Given the description of an element on the screen output the (x, y) to click on. 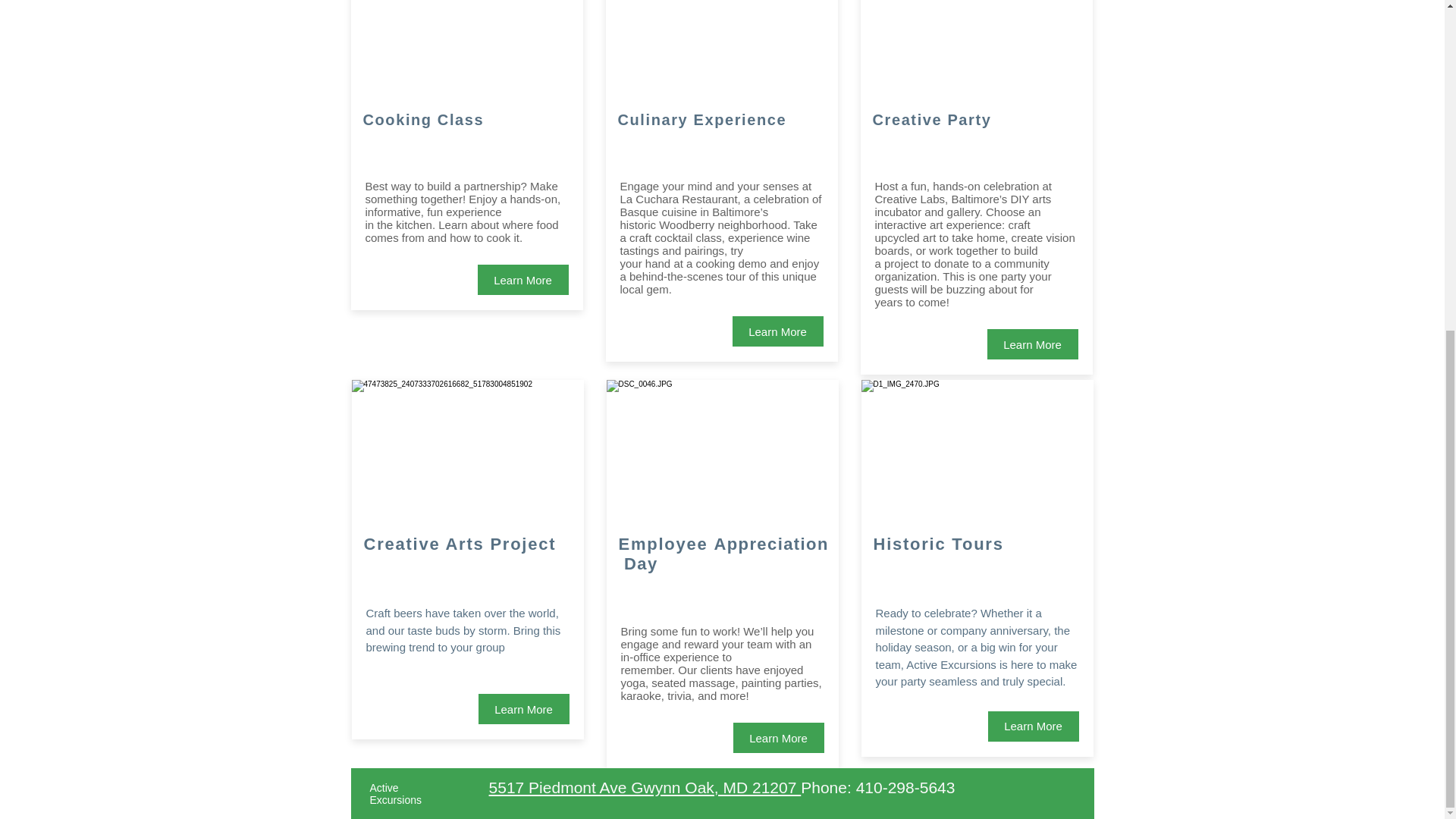
Learn More (523, 708)
Learn More (778, 737)
Learn More (778, 331)
Learn More (1032, 726)
Learn More (523, 279)
Learn More (1032, 344)
5517 Piedmont Ave Gwynn Oak, MD 21207  (645, 787)
